Given the description of an element on the screen output the (x, y) to click on. 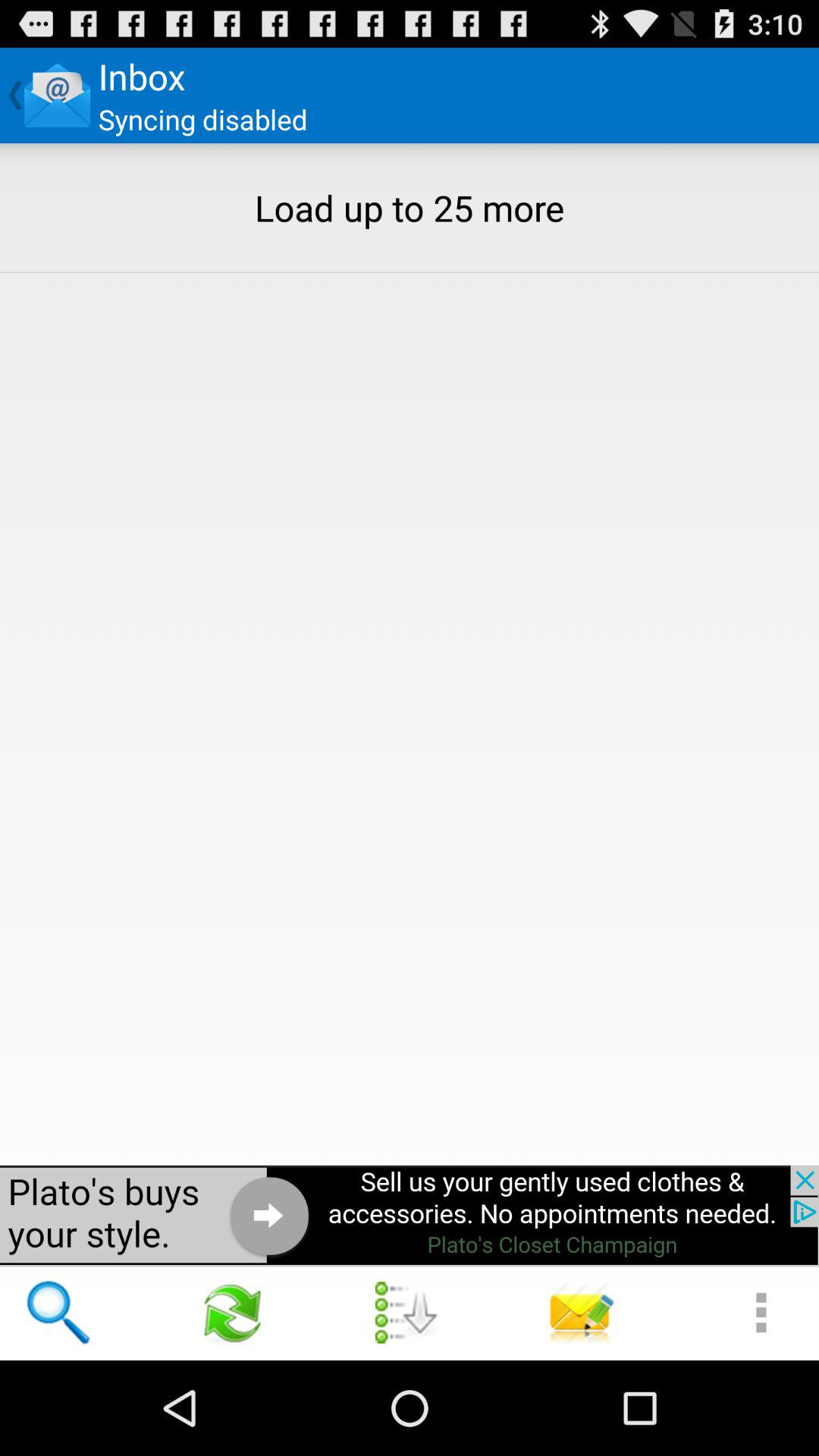
advatisment (409, 1214)
